Given the description of an element on the screen output the (x, y) to click on. 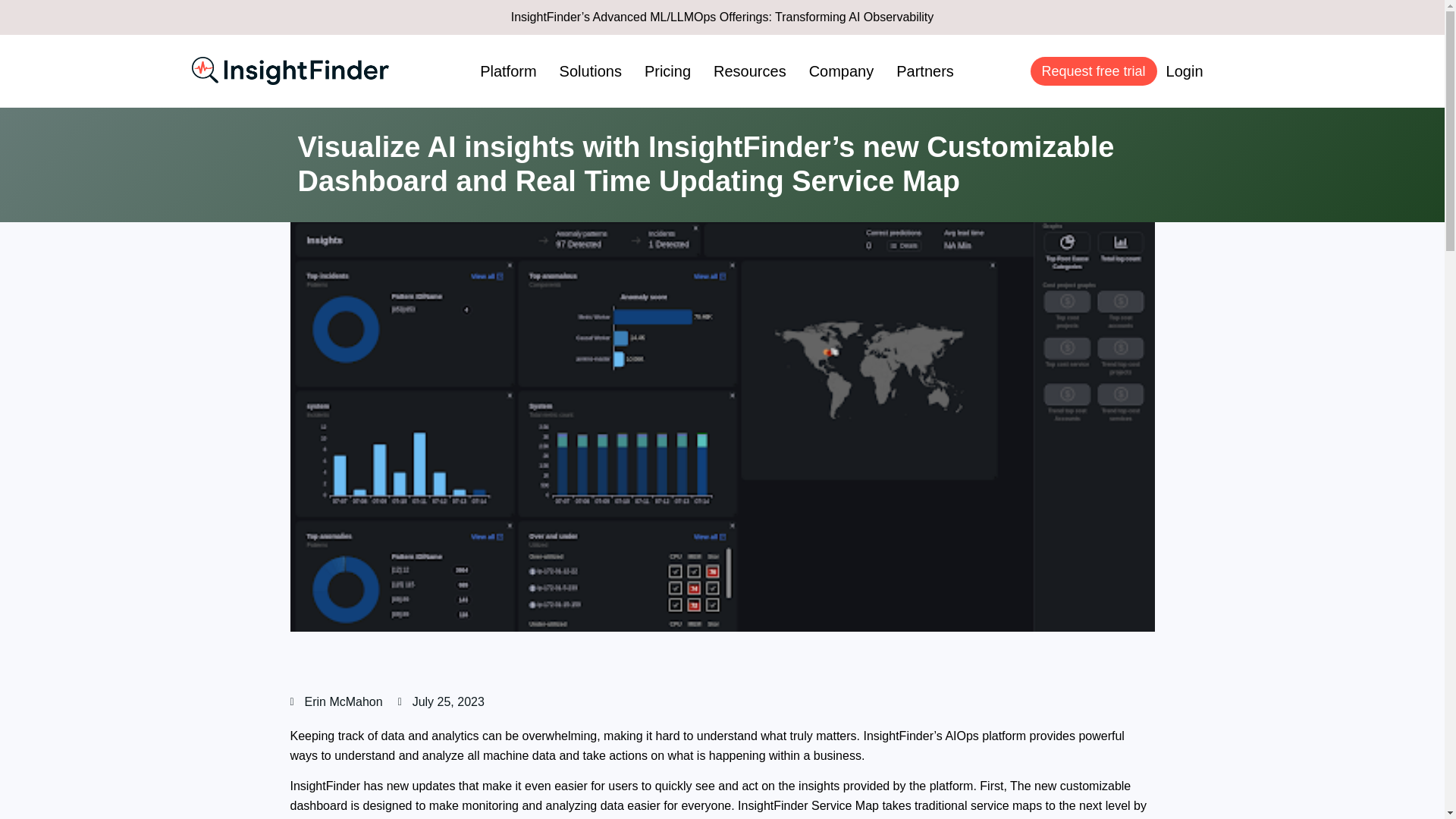
Resources (750, 71)
Platform (508, 71)
Company (841, 71)
Pricing (667, 71)
Solutions (591, 71)
Partners (925, 71)
